Given the description of an element on the screen output the (x, y) to click on. 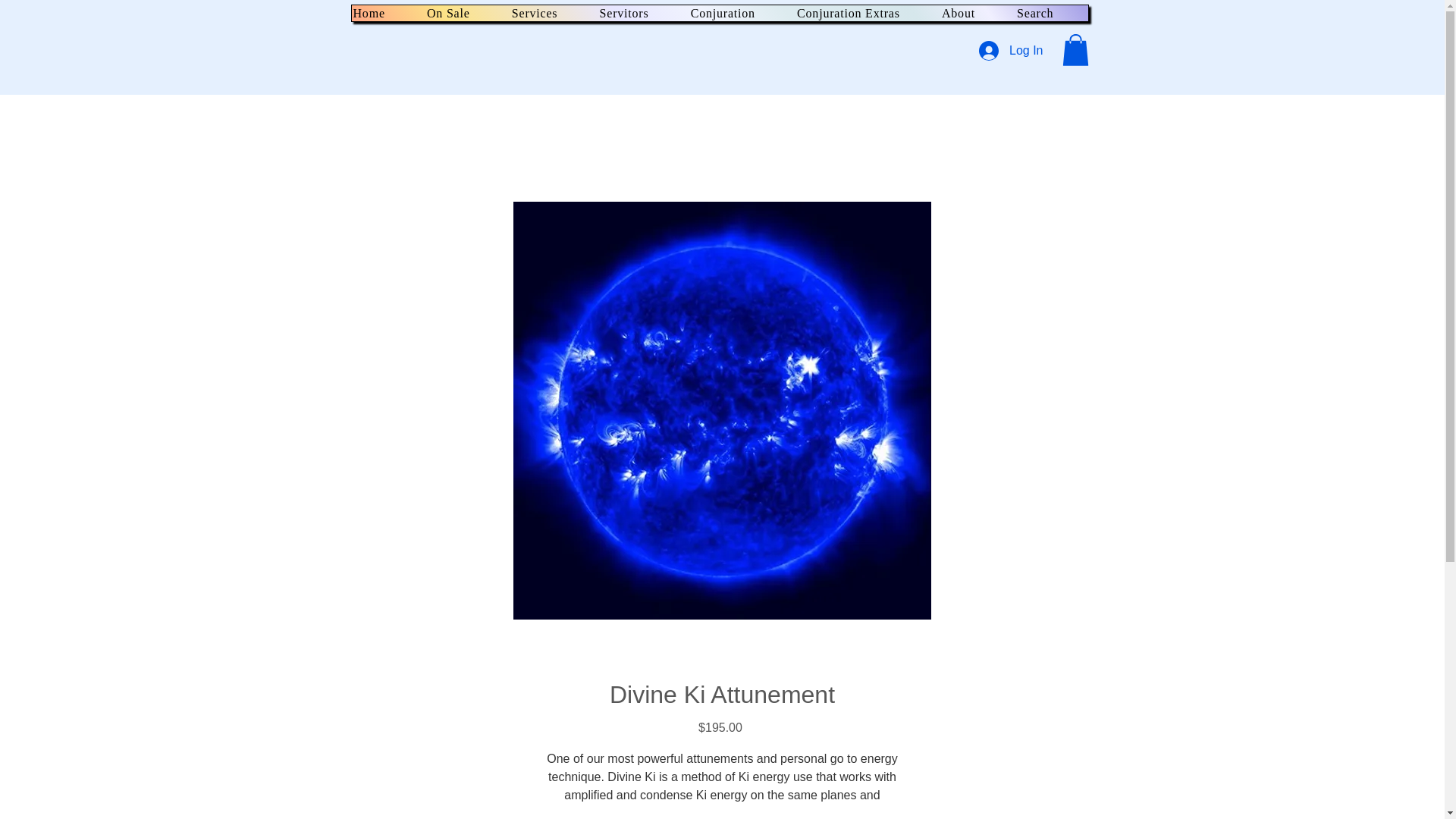
Home (385, 12)
Search (1050, 12)
Log In (1010, 50)
